Given the description of an element on the screen output the (x, y) to click on. 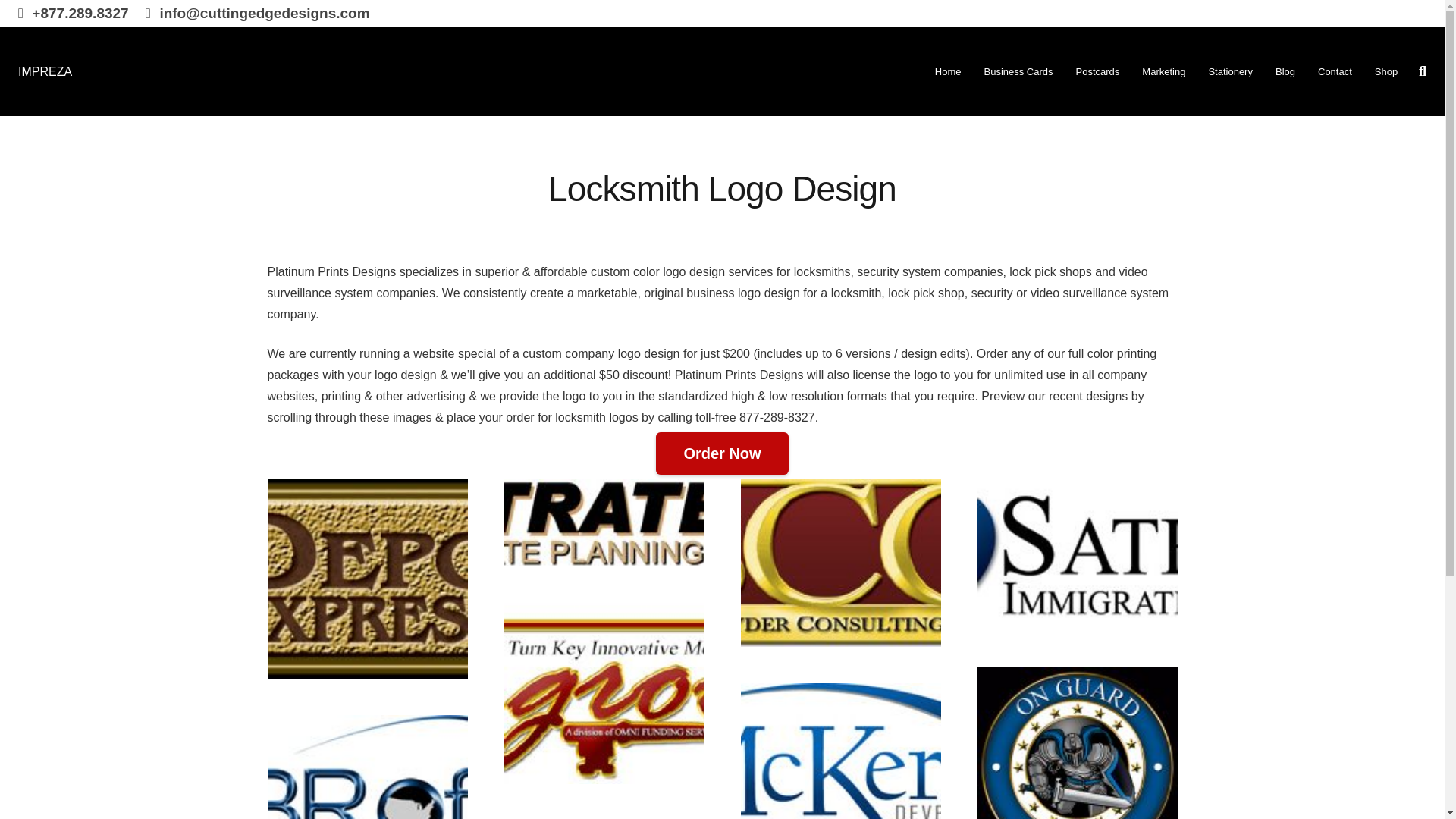
Business Cards (1018, 71)
IMPREZA (44, 71)
rsbelardelogo (603, 692)
web-depoexpress-lg (366, 578)
satherlaw-logo3 (1076, 554)
Order Now (721, 453)
scglogo (839, 562)
onguardsecurity-logo-blue (1076, 743)
brofa-logo (366, 766)
strategicestateplanning-log (603, 522)
mckern-logo6 (839, 751)
